Given the description of an element on the screen output the (x, y) to click on. 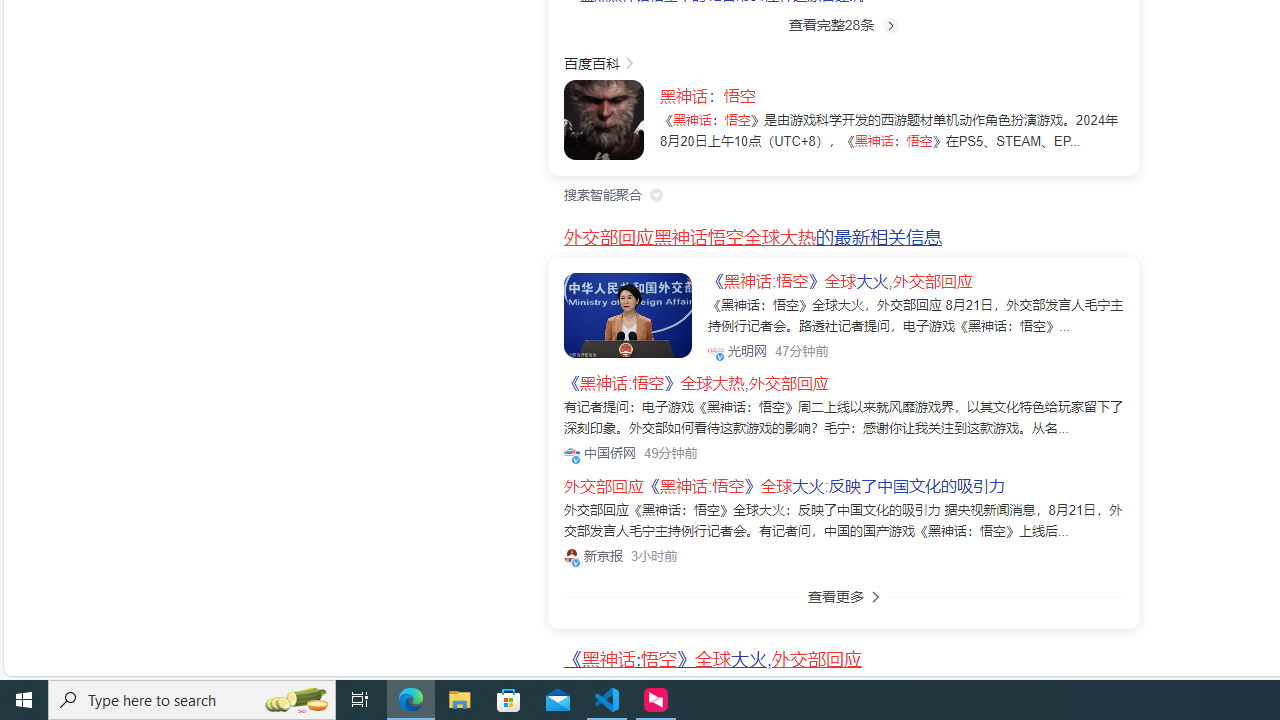
Class: c-img c-img-radius-large (628, 314)
